Given the description of an element on the screen output the (x, y) to click on. 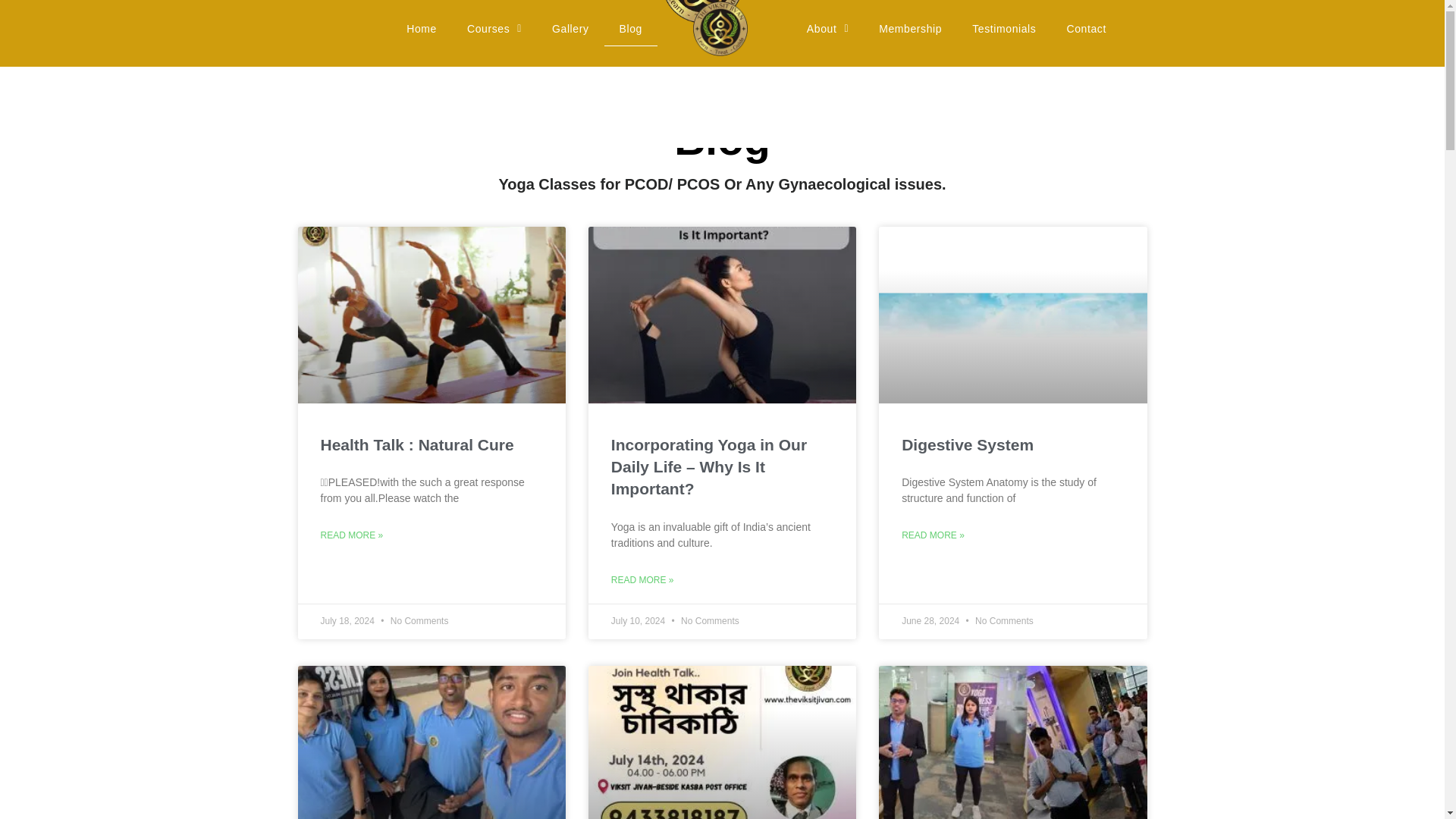
Blog (631, 28)
Home (421, 28)
About (827, 28)
Membership (909, 28)
Gallery (570, 28)
Courses (494, 28)
